Given the description of an element on the screen output the (x, y) to click on. 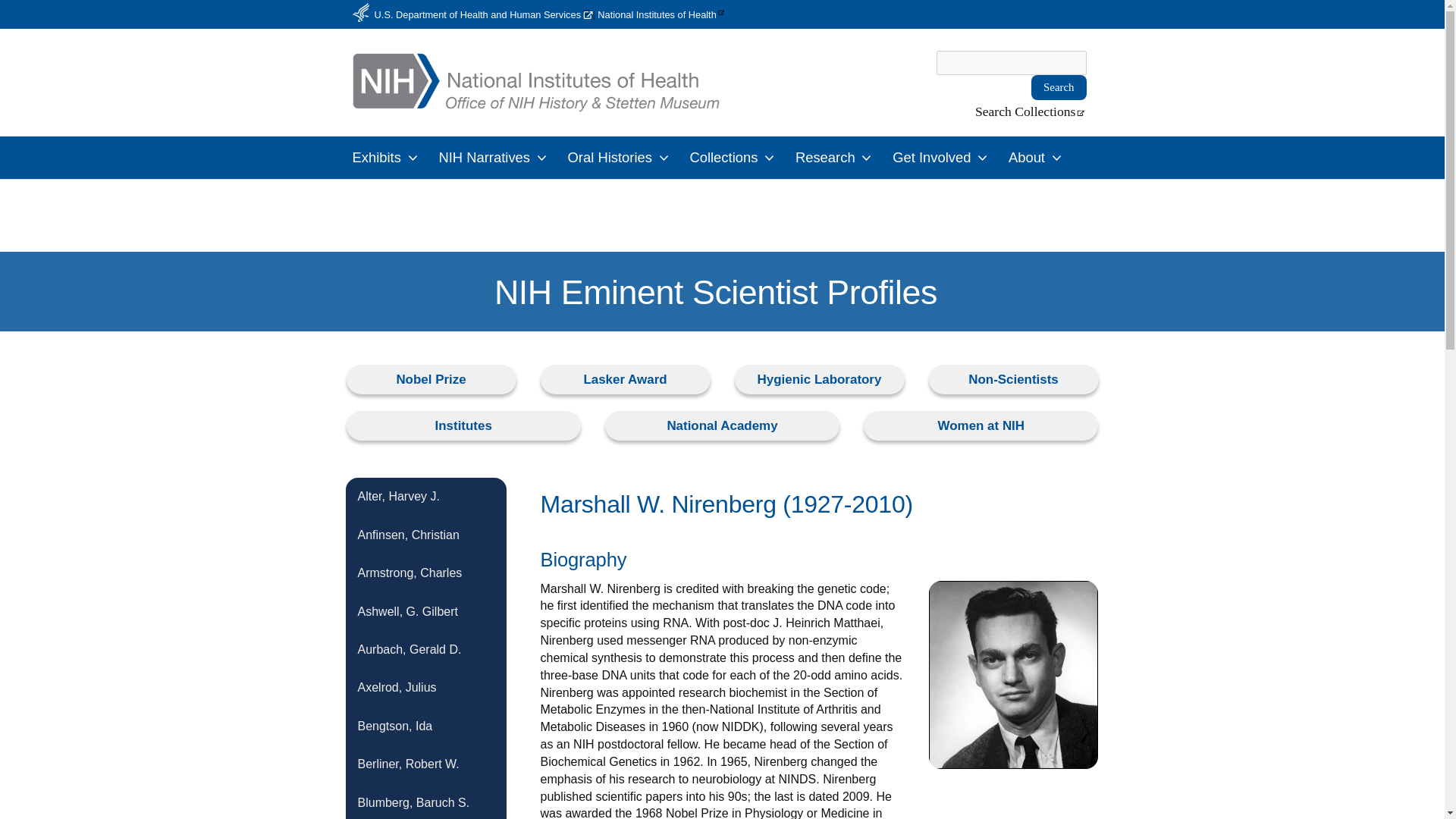
Get Involved (942, 157)
Bengtson, Ida (426, 726)
National Academy (722, 425)
Search Collections (1030, 111)
Ashwell, G. Gilbert (426, 611)
Lasker Award (625, 378)
Women at NIH (980, 425)
About (1038, 157)
Oral Histories (620, 157)
Axelrod, Julius (426, 687)
